Given the description of an element on the screen output the (x, y) to click on. 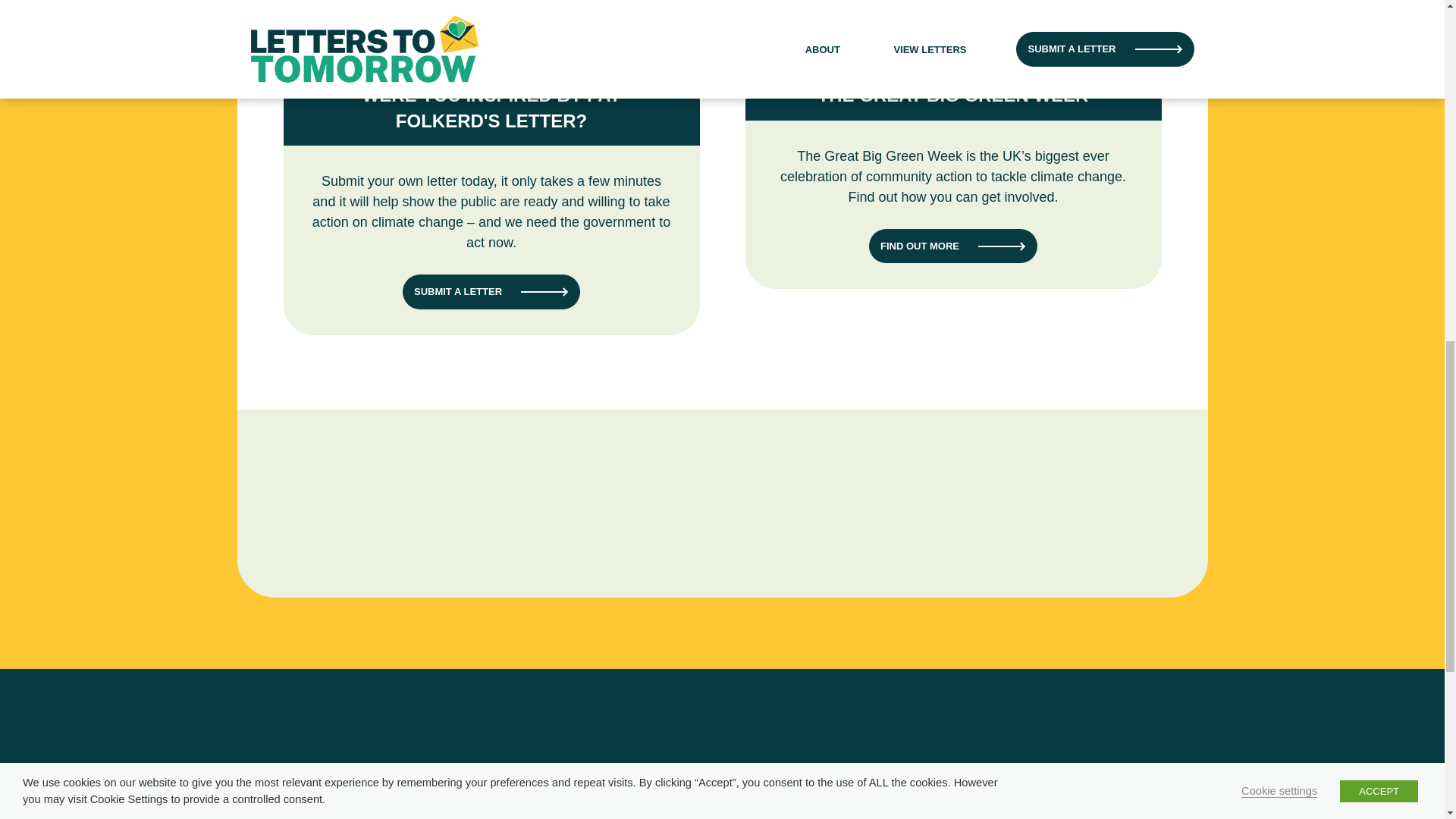
SUBMIT A LETTER (491, 291)
FIND OUT MORE (952, 246)
